Given the description of an element on the screen output the (x, y) to click on. 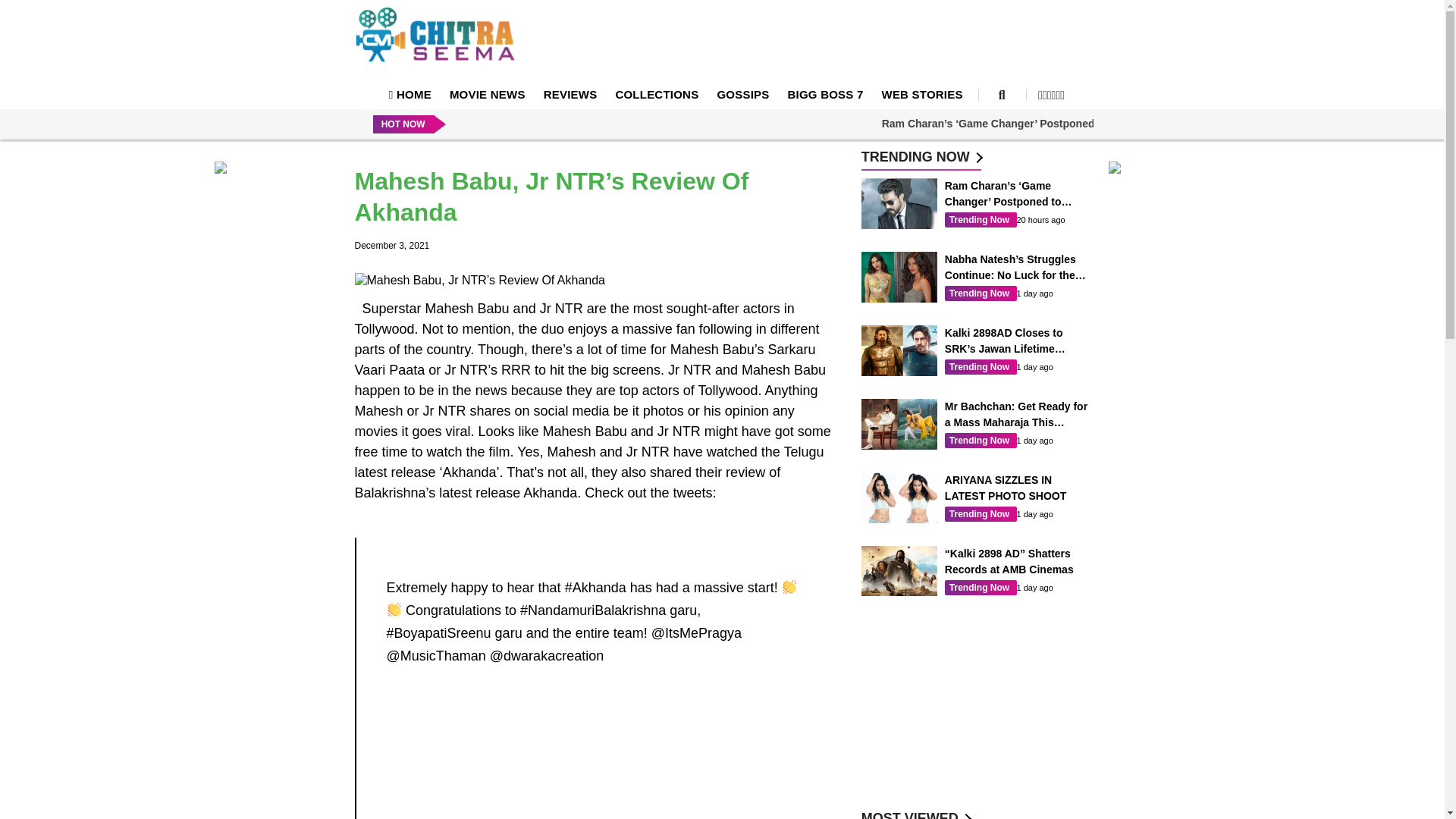
HOME (409, 94)
Advertisement (817, 39)
COLLECTIONS (656, 94)
MOVIE NEWS (487, 94)
Advertisement (596, 749)
WEB STORIES (921, 94)
BIGG BOSS 7 (825, 94)
GOSSIPS (742, 94)
REVIEWS (569, 94)
Chitraseema (434, 34)
